Given the description of an element on the screen output the (x, y) to click on. 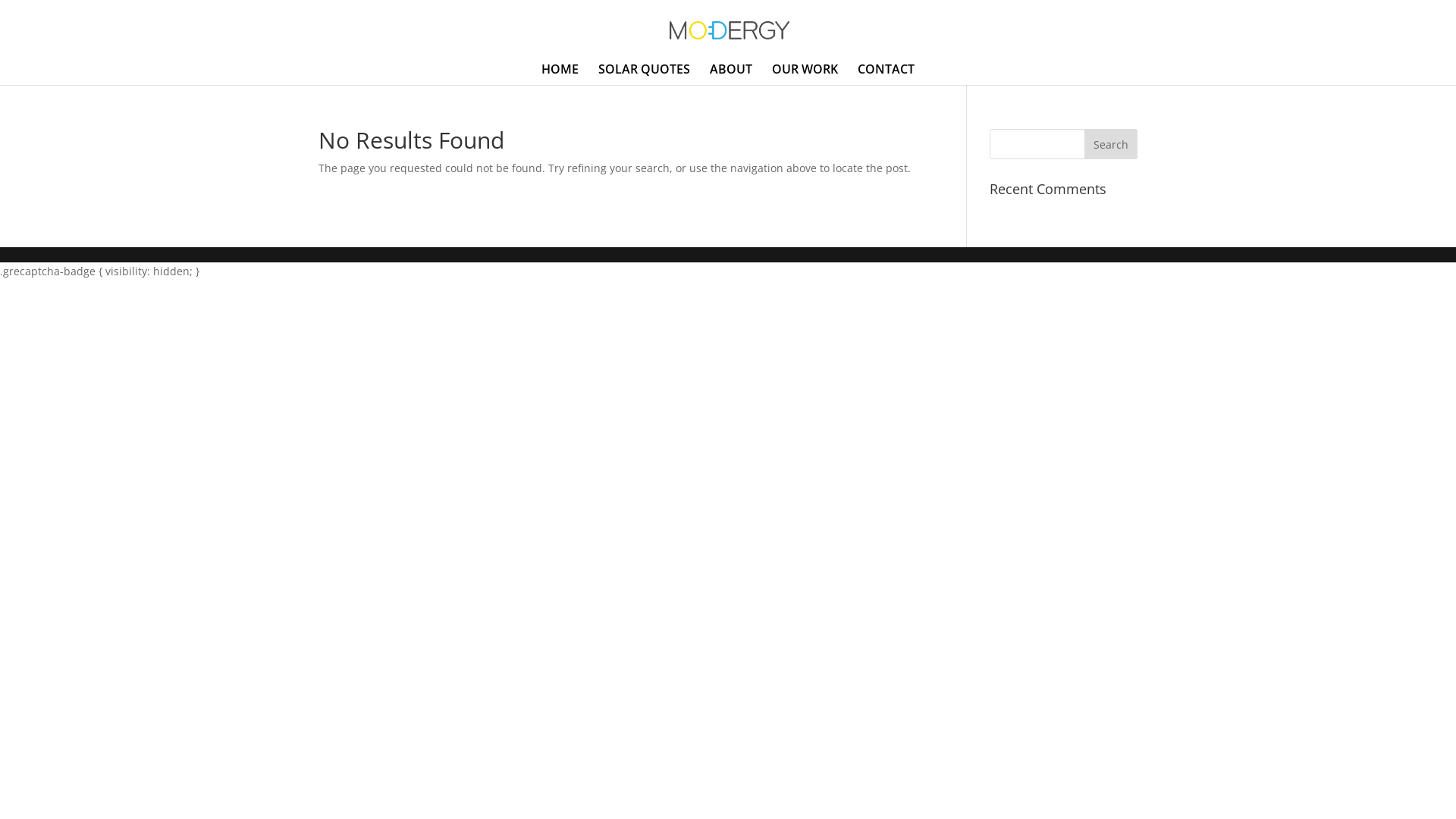
ABOUT Element type: text (730, 73)
CONTACT Element type: text (885, 73)
SOLAR QUOTES Element type: text (644, 73)
OUR WORK Element type: text (804, 73)
HOME Element type: text (559, 73)
Search Element type: text (1110, 143)
